Given the description of an element on the screen output the (x, y) to click on. 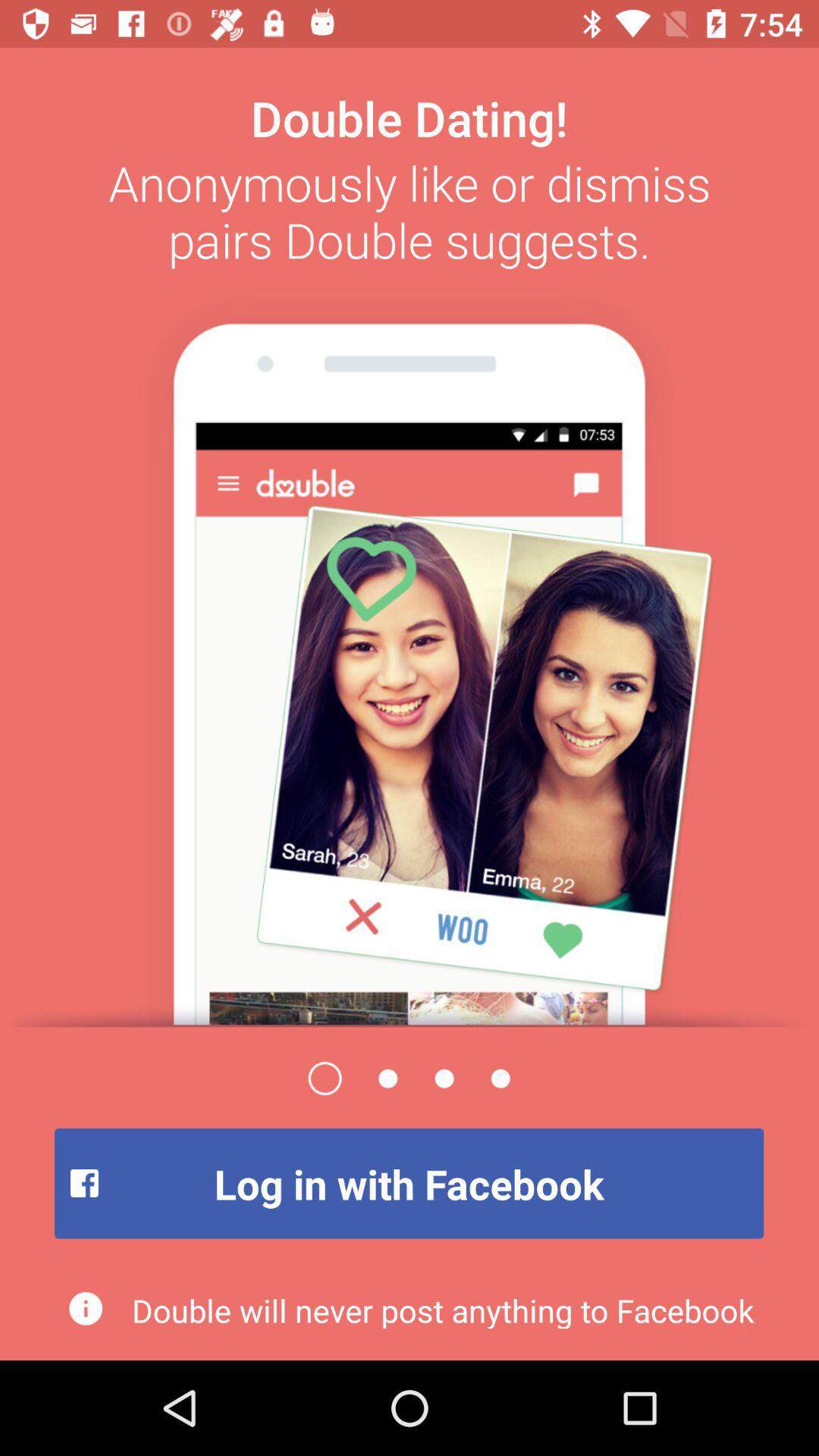
main image (409, 651)
